Given the description of an element on the screen output the (x, y) to click on. 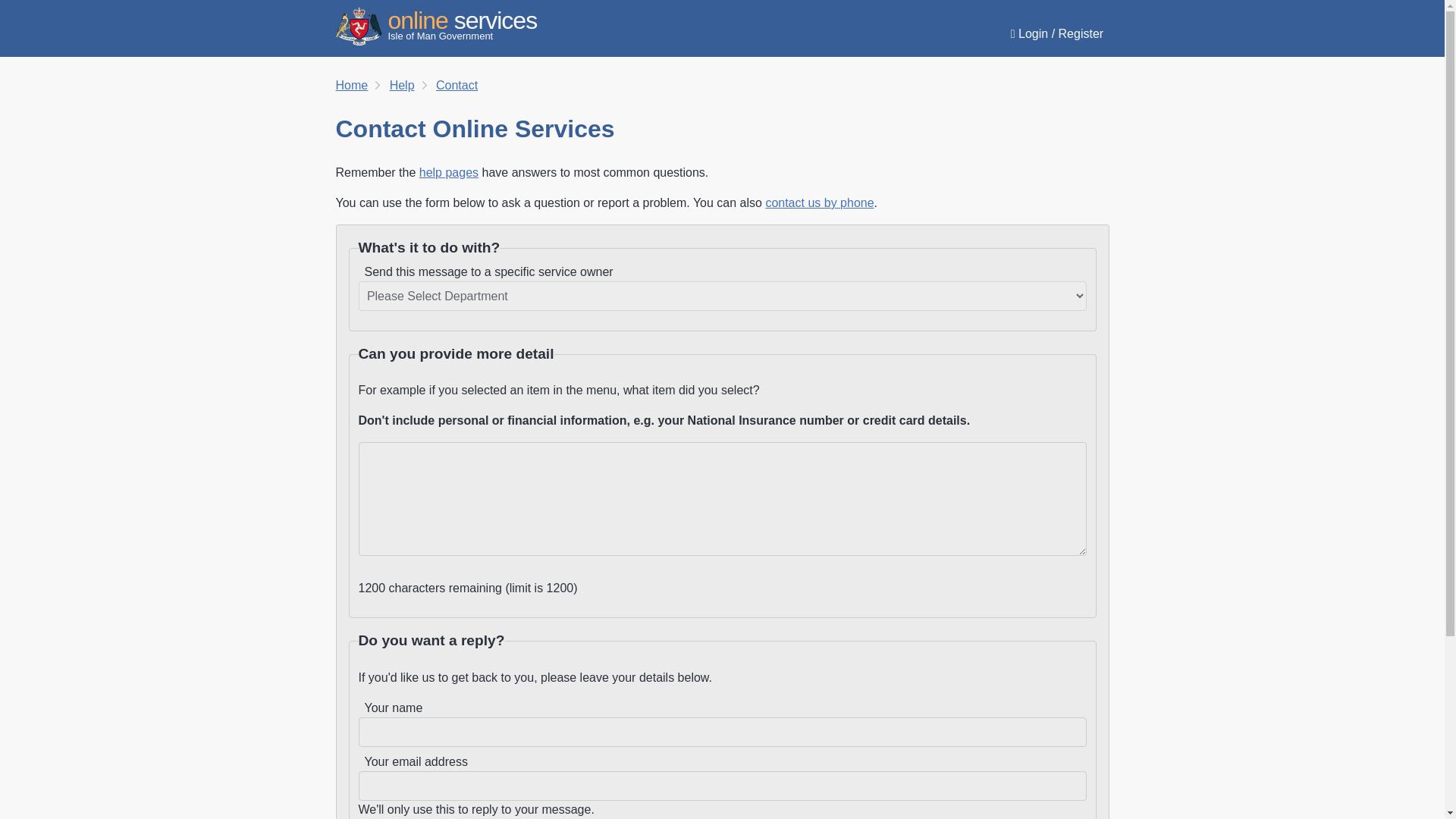
help pages (449, 172)
Help (435, 23)
contact us by phone (402, 84)
Contact (819, 202)
Home (456, 84)
